Given the description of an element on the screen output the (x, y) to click on. 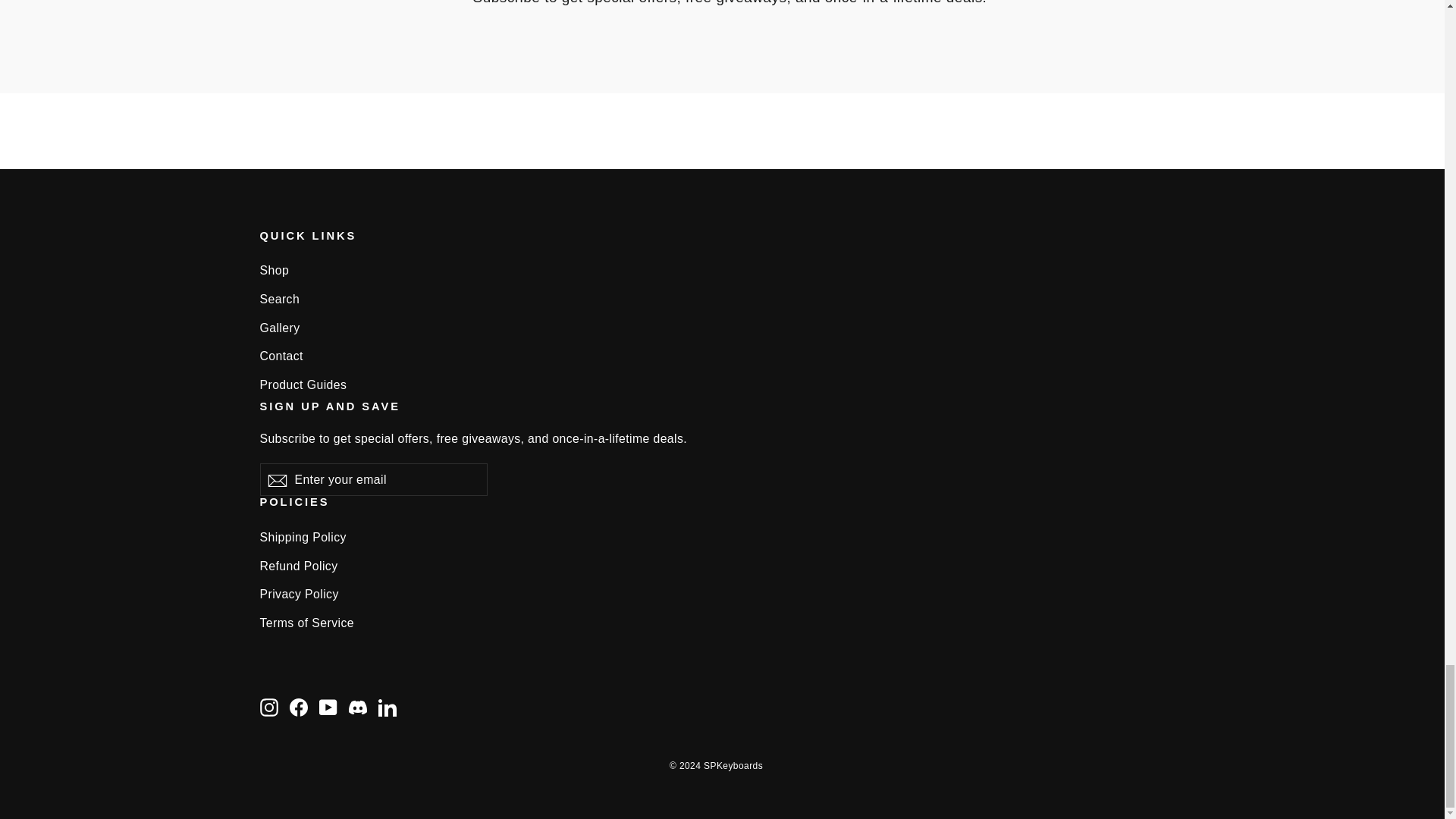
SPKeyboards on Facebook (298, 706)
SPKeyboards on YouTube (327, 706)
icon-email (276, 480)
instagram (268, 707)
SPKeyboards on Tumblr (357, 706)
